Given the description of an element on the screen output the (x, y) to click on. 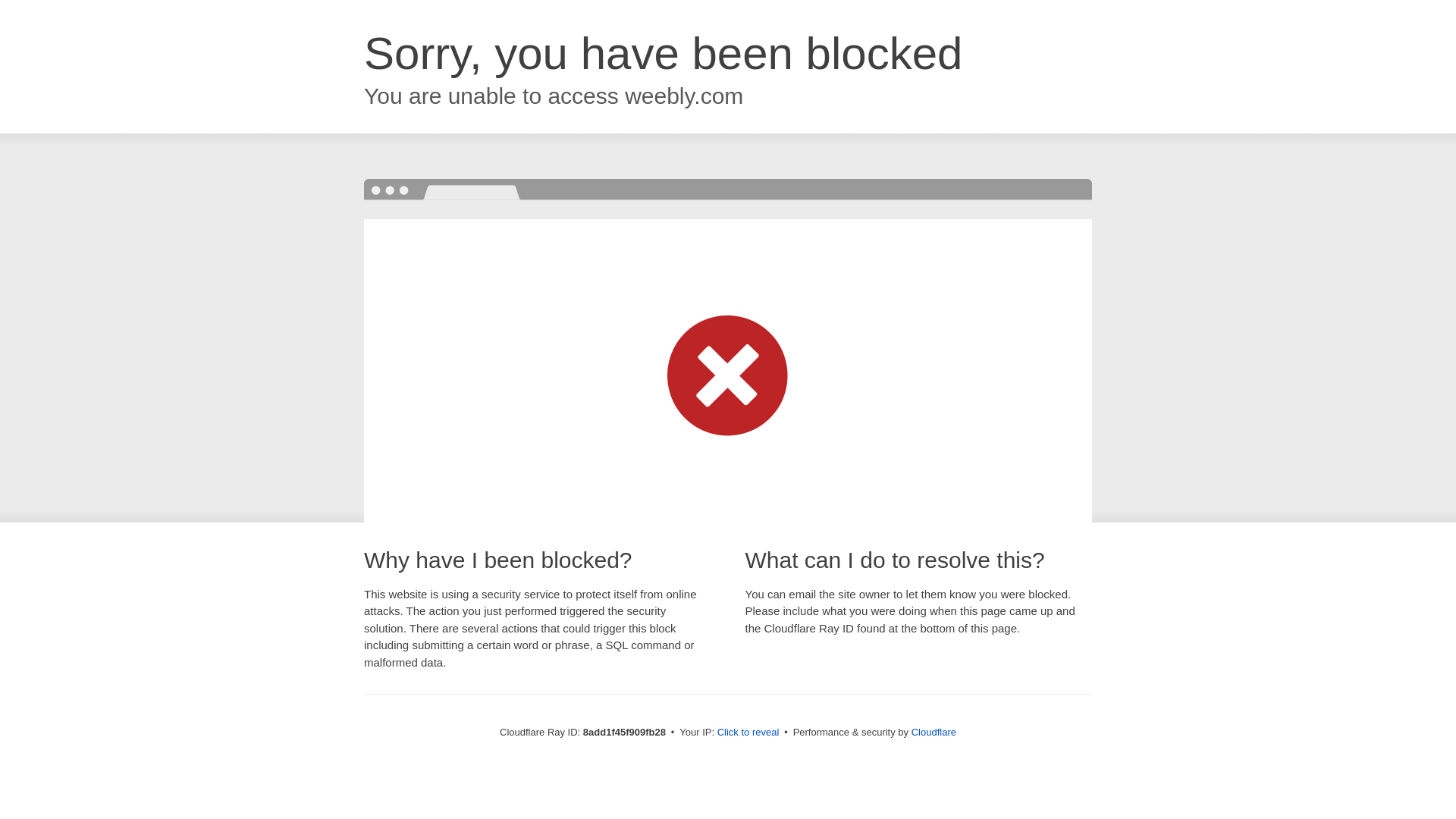
Click to reveal (747, 732)
Cloudflare (933, 731)
